Given the description of an element on the screen output the (x, y) to click on. 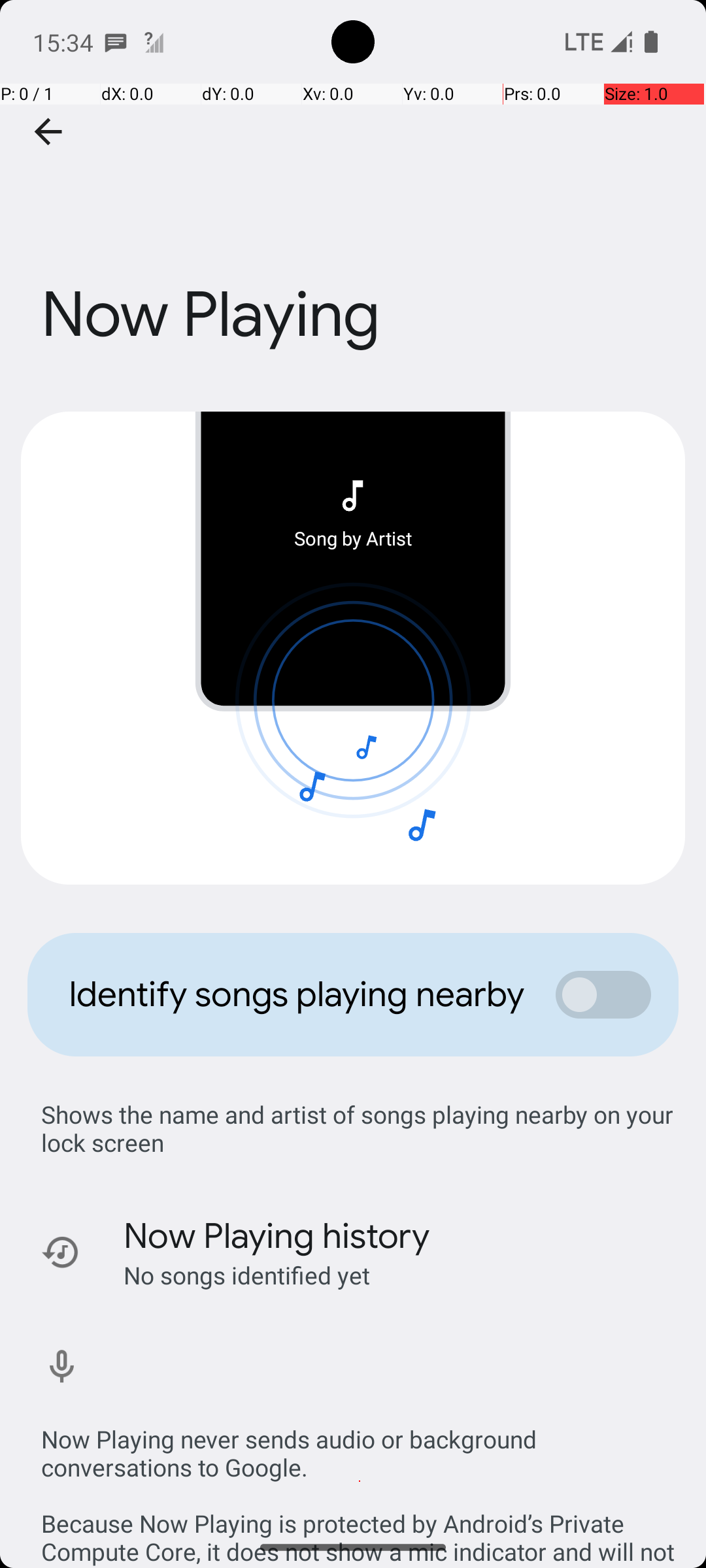
Now Playing Element type: android.widget.FrameLayout (353, 236)
Identify songs playing nearby Element type: android.widget.TextView (298, 994)
Shows the name and artist of songs playing nearby on your lock screen Element type: android.widget.TextView (359, 1128)
Now Playing history Element type: android.widget.TextView (276, 1235)
No songs identified yet Element type: android.widget.TextView (246, 1274)
Now Playing never sends audio or background conversations to Google.

Because Now Playing is protected by Android’s Private Compute Core, it does not show a mic indicator and will not appear on your Privacy dashboard. Element type: android.widget.TextView (359, 1481)
